Given the description of an element on the screen output the (x, y) to click on. 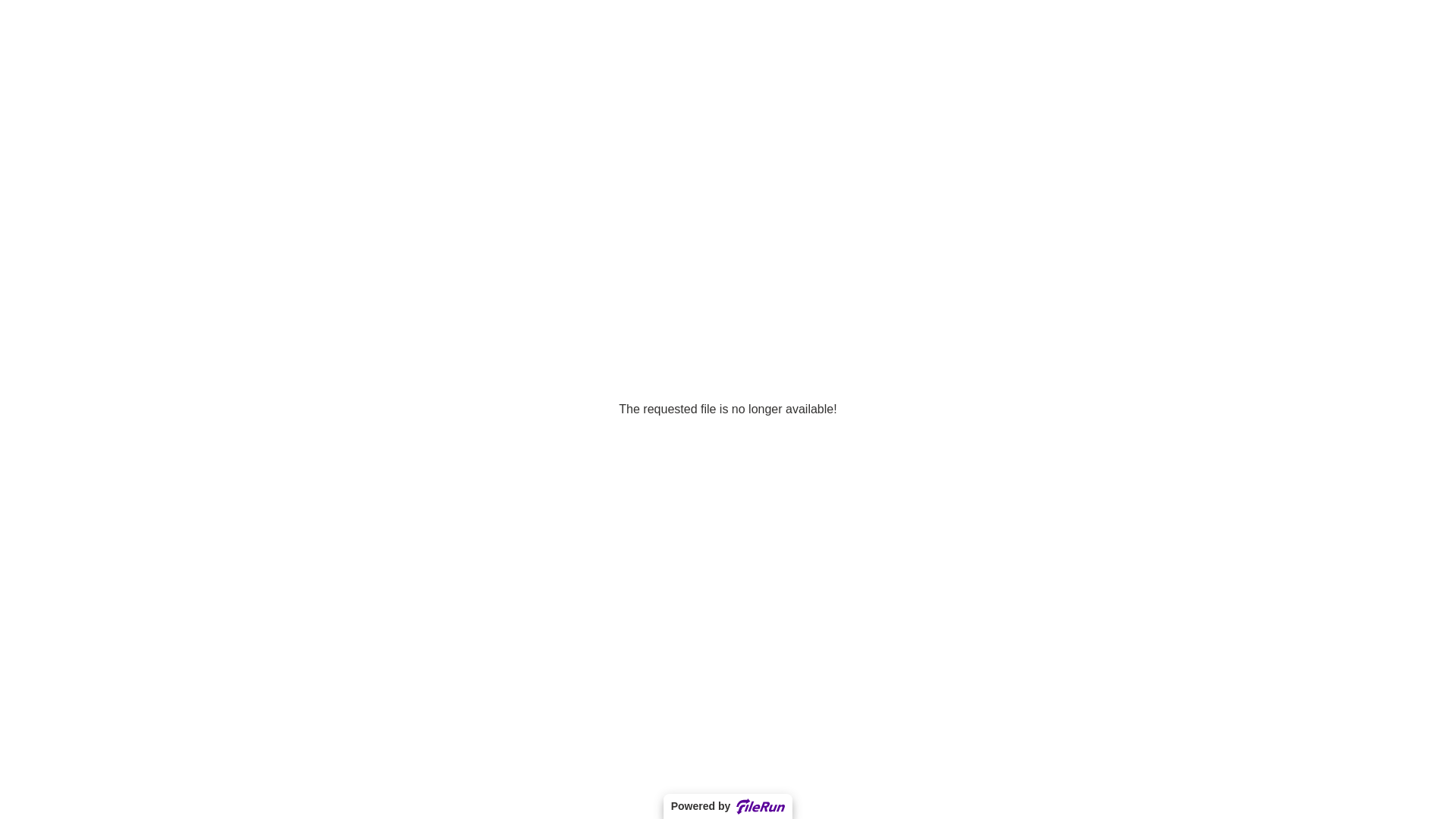
FileRun Element type: hover (760, 806)
